Given the description of an element on the screen output the (x, y) to click on. 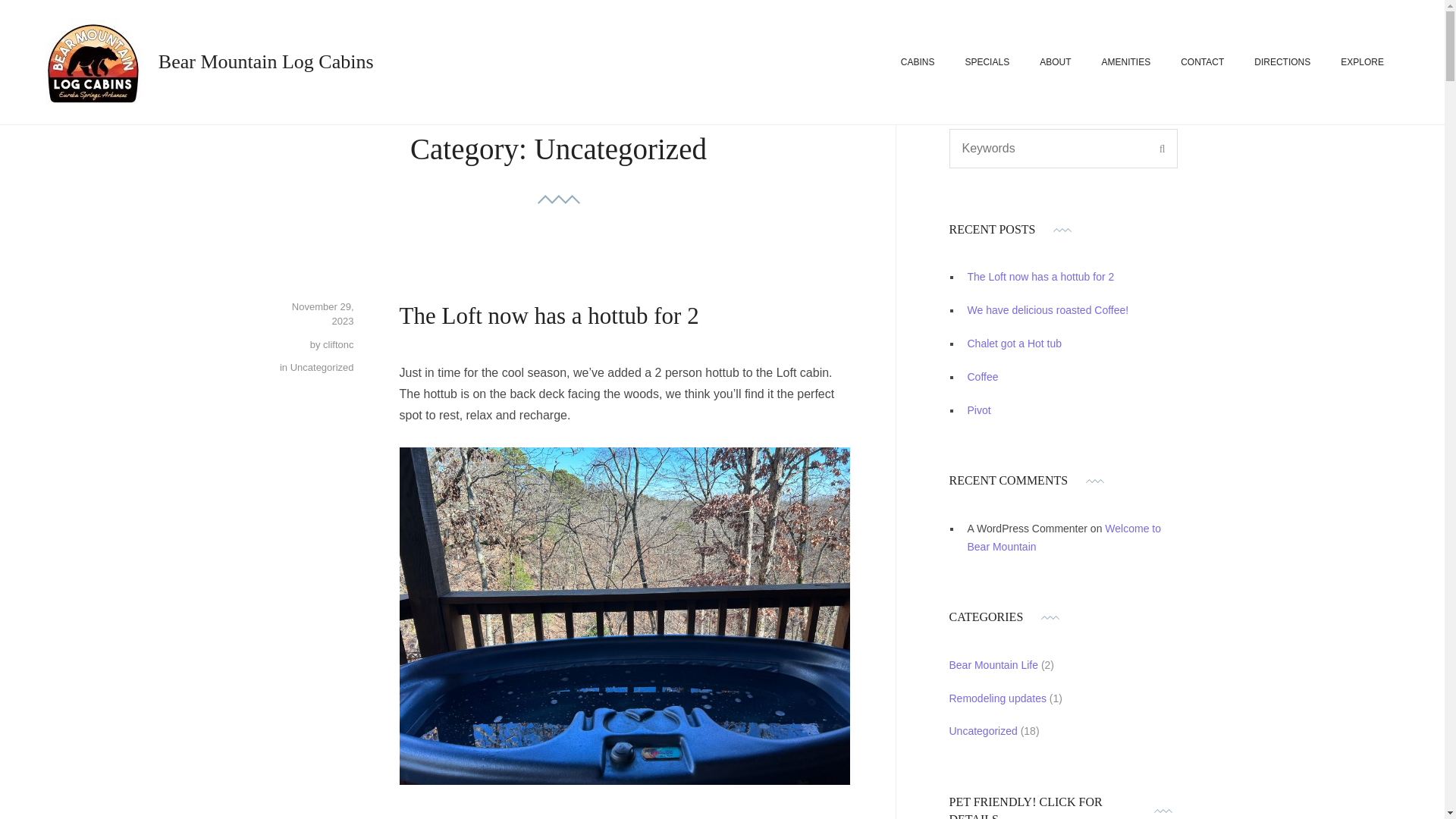
CONTACT (1202, 61)
cliftonc (338, 344)
AMENITIES (1125, 61)
ABOUT (1054, 61)
Bear Mountain Log Cabins (266, 61)
CABINS (917, 61)
EXPLORE (1362, 61)
The Loft now has a hottub for 2 (548, 315)
November 29, 2023 (322, 314)
Uncategorized (321, 367)
